Given the description of an element on the screen output the (x, y) to click on. 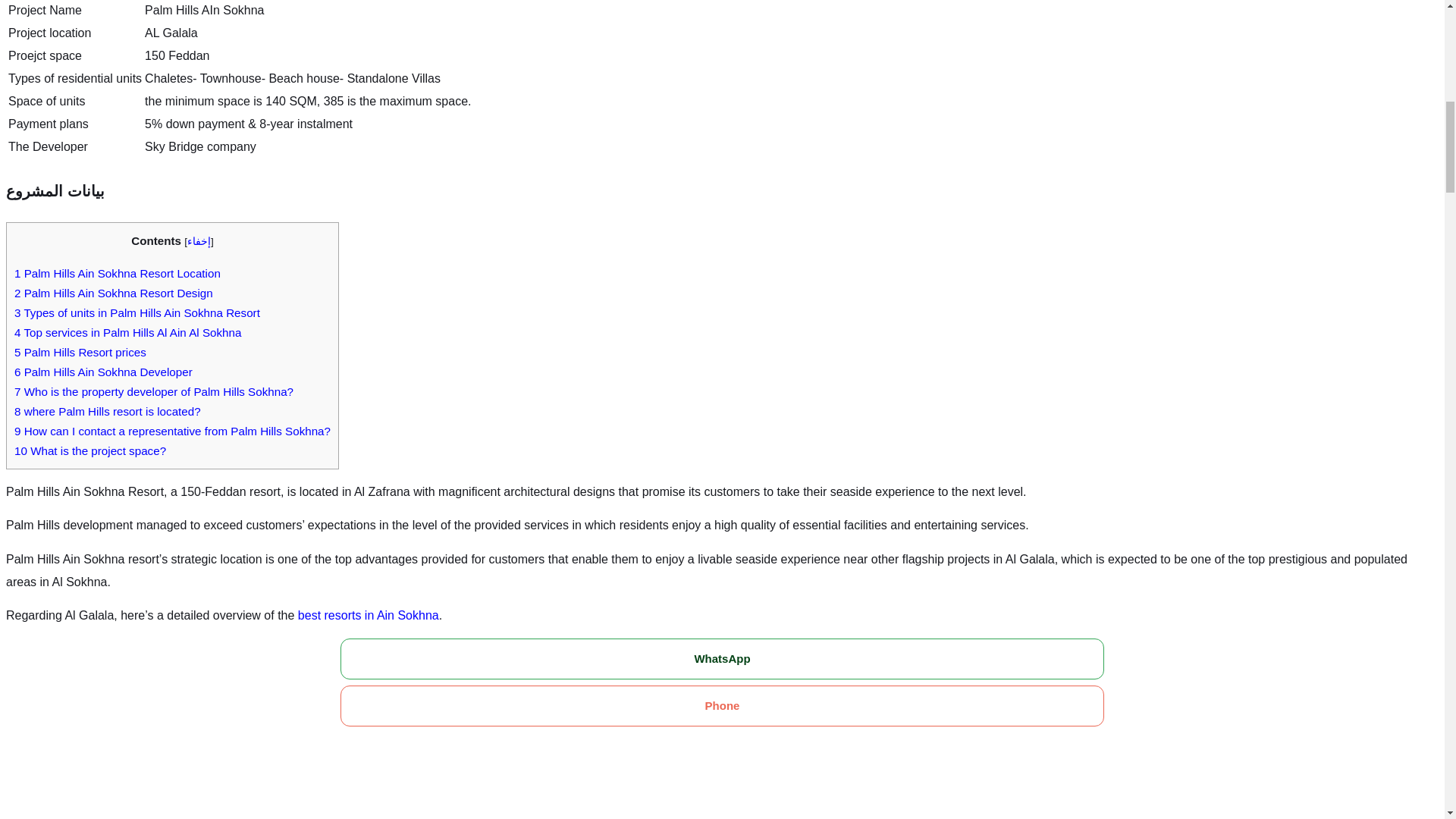
9 How can I contact a representative from Palm Hills Sokhna? (172, 431)
5 Palm Hills Resort prices (80, 351)
best resorts in Ain Sokhna (368, 615)
3 Types of units in Palm Hills Ain Sokhna Resort (137, 312)
4 Top services in Palm Hills Al Ain Al Sokhna (127, 332)
Phone (721, 705)
6 Palm Hills Ain Sokhna Developer (103, 371)
WhatsApp (721, 658)
7 Who is the property developer of Palm Hills Sokhna? (154, 391)
2 Palm Hills Ain Sokhna Resort Design (113, 292)
10 What is the project space? (89, 450)
8 where Palm Hills resort is located? (107, 410)
1 Palm Hills Ain Sokhna Resort Location (117, 273)
